Given the description of an element on the screen output the (x, y) to click on. 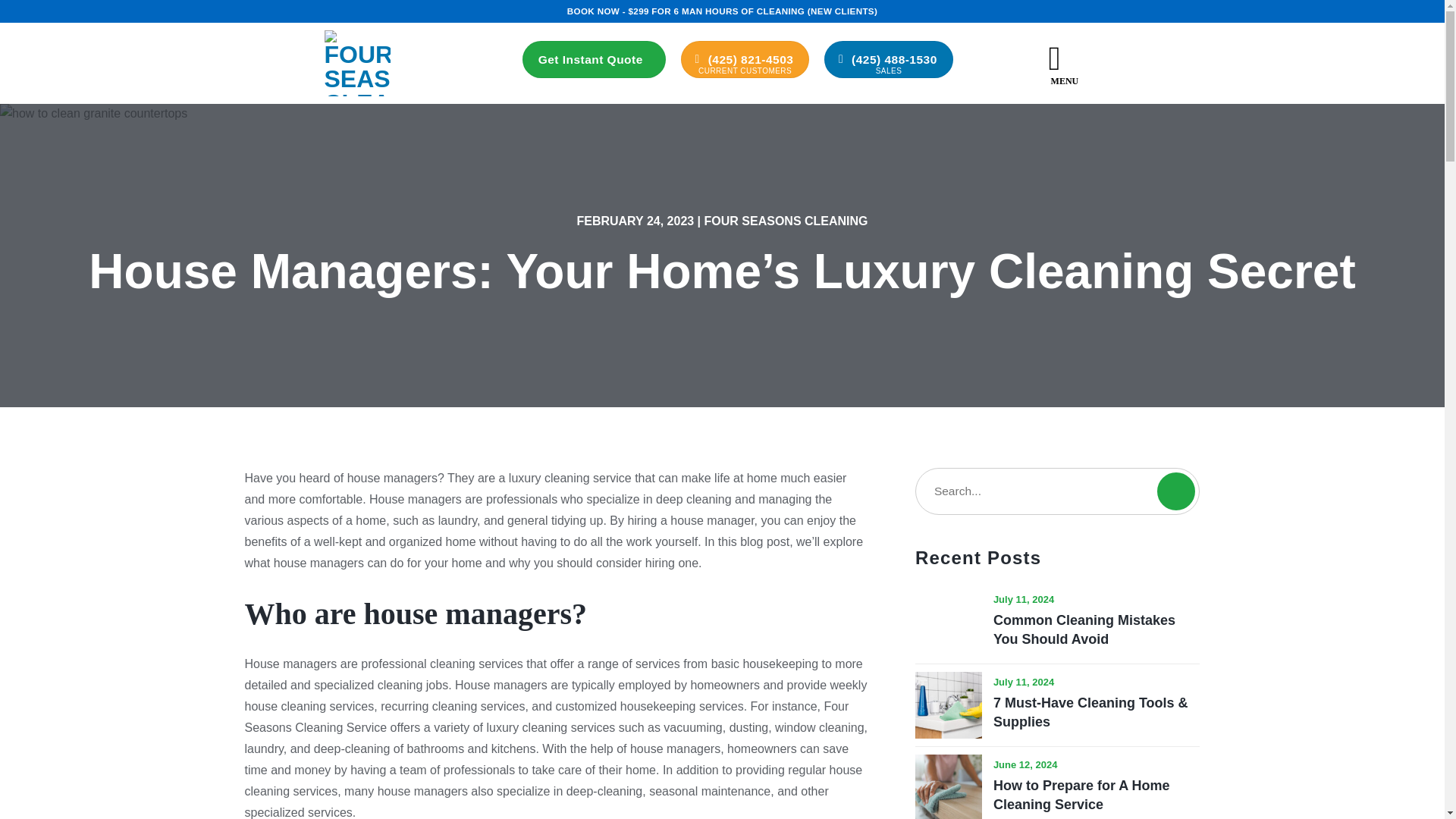
Get Instant Quote (593, 58)
Common Cleaning Mistakes You Should Avoid (1095, 629)
